Given the description of an element on the screen output the (x, y) to click on. 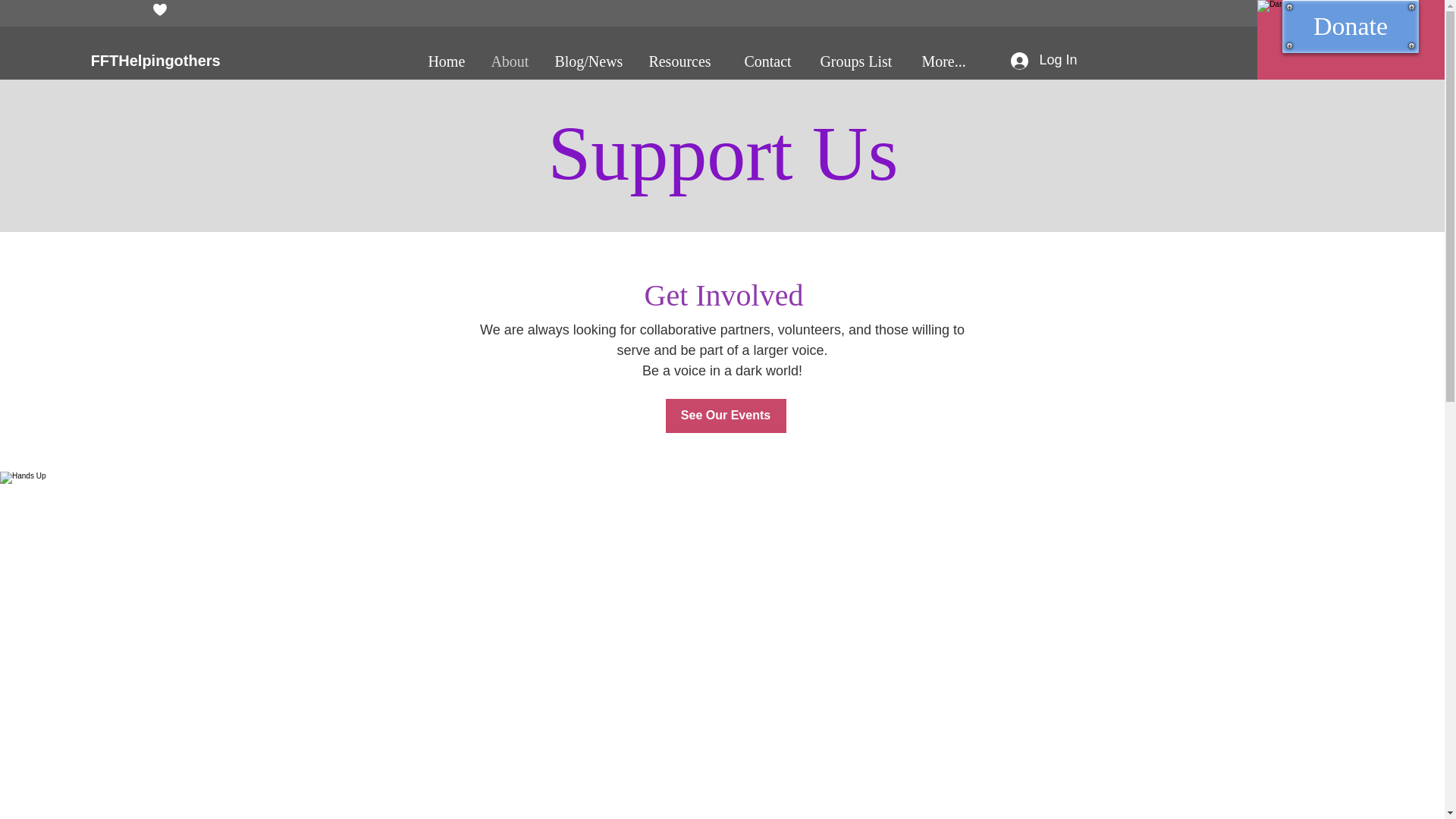
Contact (770, 61)
FFTHelpingothers (158, 60)
Groups List (859, 61)
Resources (684, 61)
About (511, 61)
Log In (1041, 59)
See Our Events (725, 415)
Donate (1350, 26)
Home (447, 61)
